Given the description of an element on the screen output the (x, y) to click on. 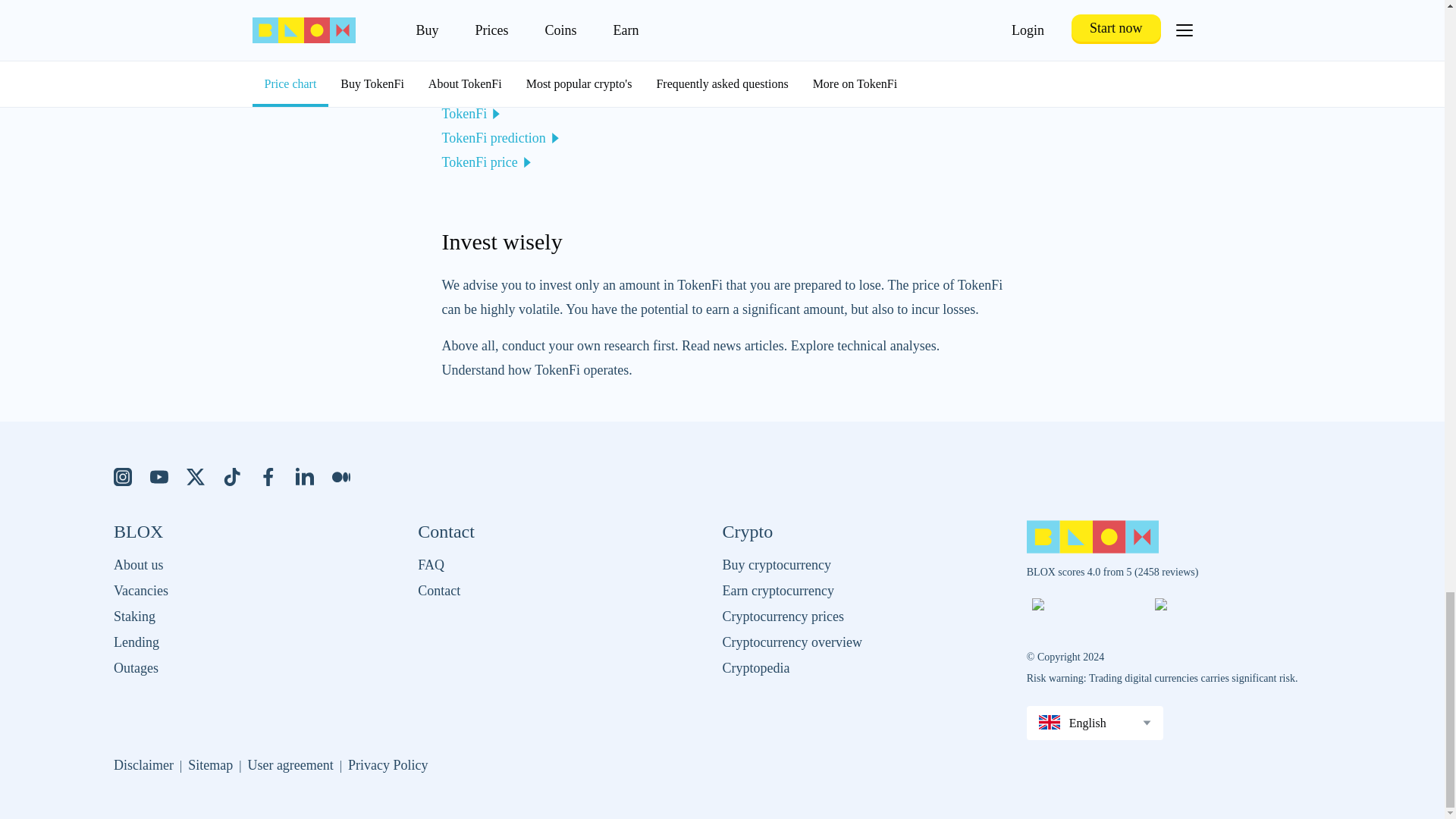
TikTok (231, 475)
X (195, 475)
LinkedIn (304, 475)
Instagram (122, 475)
YouTube (158, 475)
Medium (340, 475)
Facebook (268, 475)
